Given the description of an element on the screen output the (x, y) to click on. 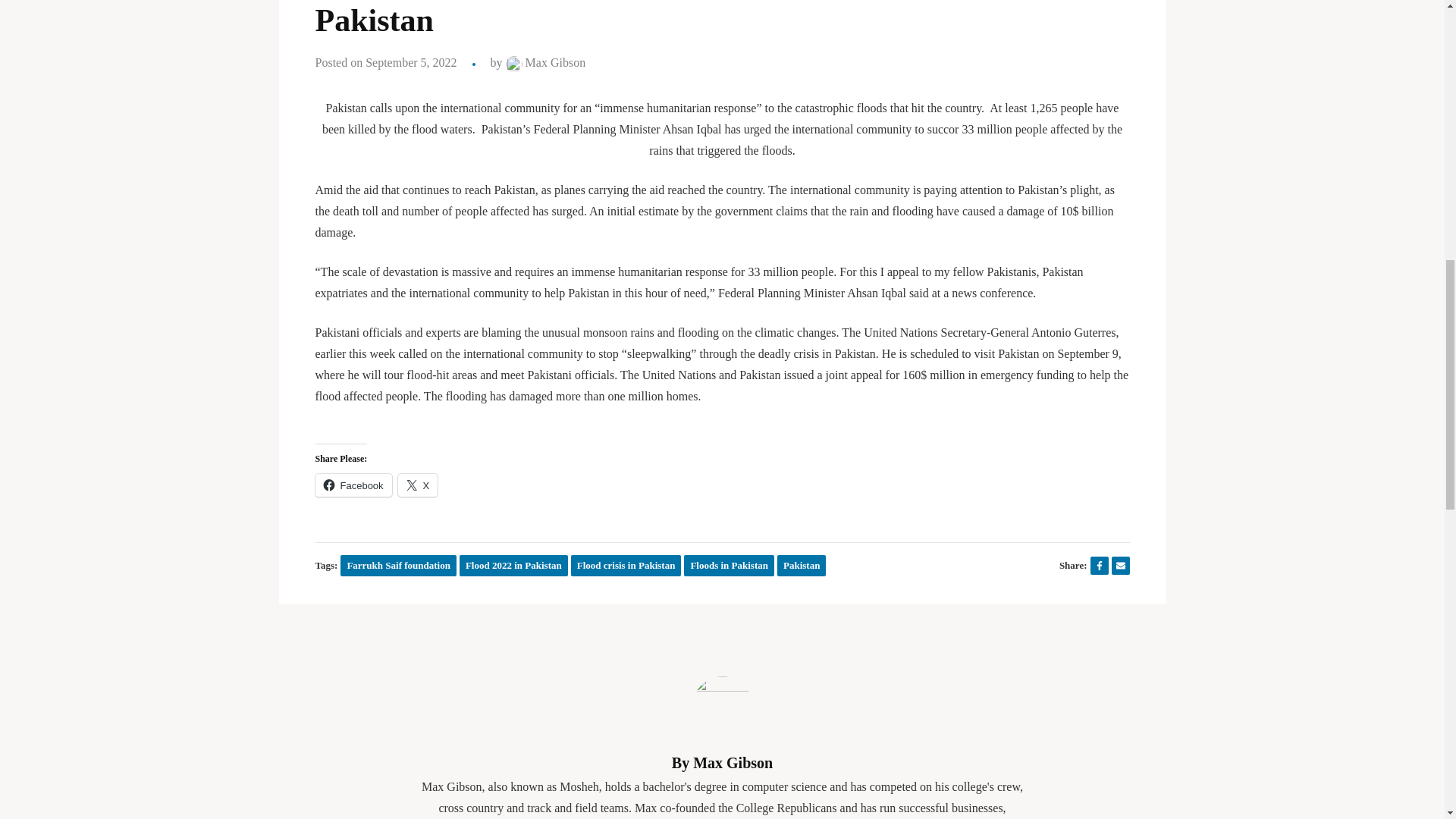
Floods in Pakistan (729, 565)
Farrukh Saif foundation (398, 565)
Click to share on Facebook (353, 485)
Click to share on X (417, 485)
Max Gibson (545, 62)
Flood 2022 in Pakistan (513, 565)
Pakistan (801, 565)
Facebook (353, 485)
Flood crisis in Pakistan (625, 565)
X (417, 485)
